Given the description of an element on the screen output the (x, y) to click on. 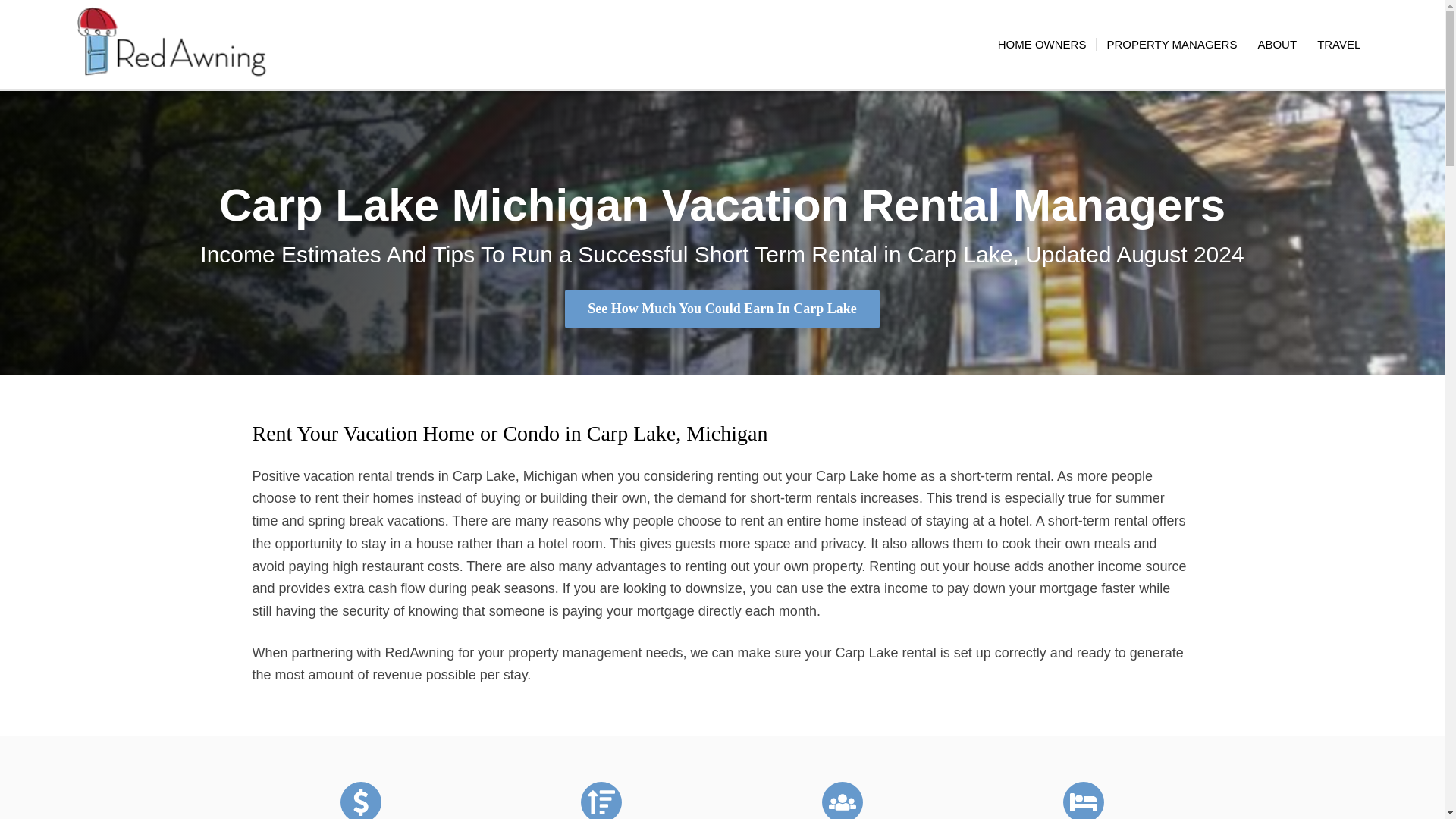
PROPERTY MANAGERS (1171, 44)
HOME OWNERS (1042, 44)
RedAwning (171, 44)
